Given the description of an element on the screen output the (x, y) to click on. 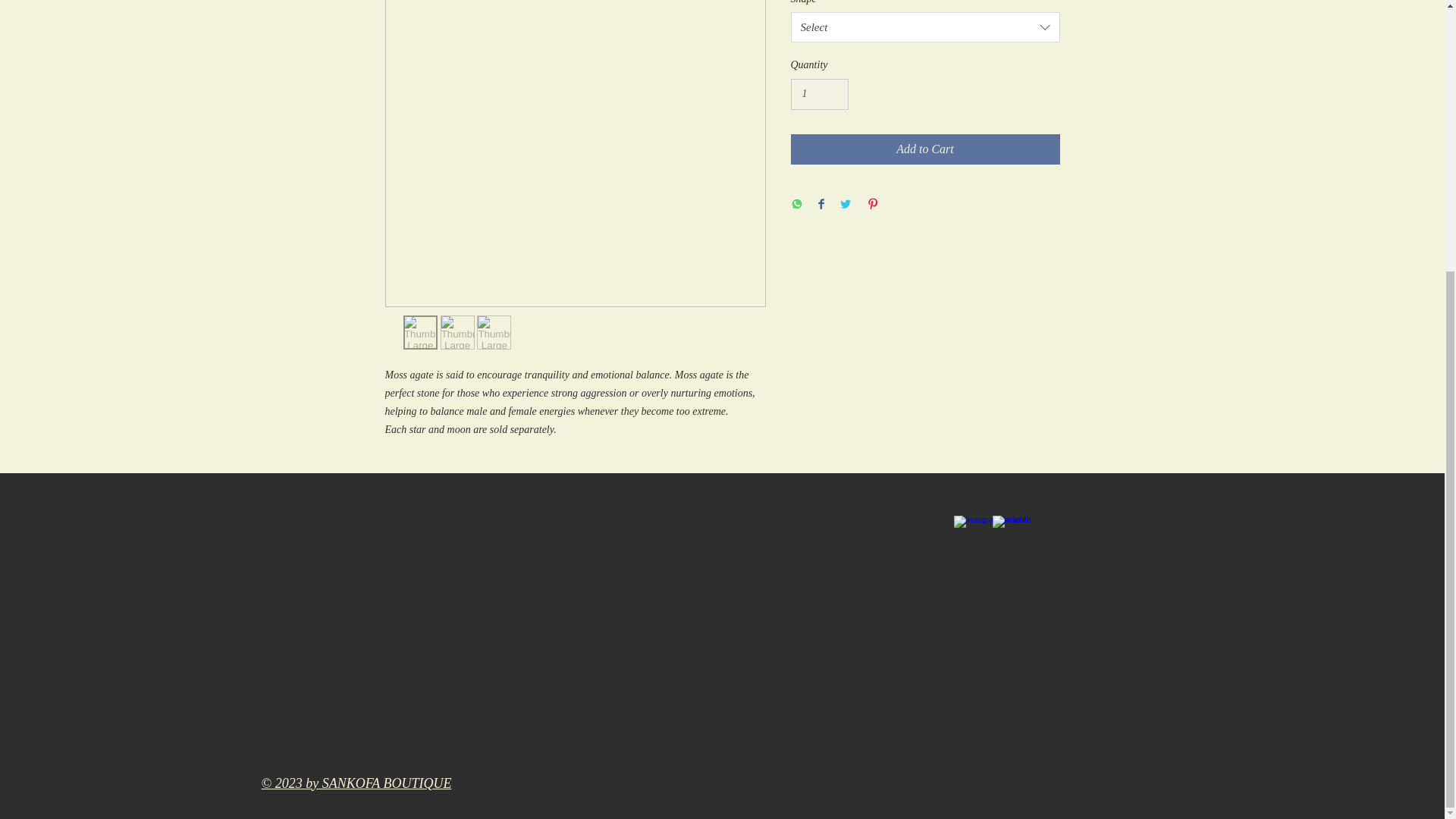
Select (924, 27)
Add to Cart (924, 149)
1 (818, 93)
